Given the description of an element on the screen output the (x, y) to click on. 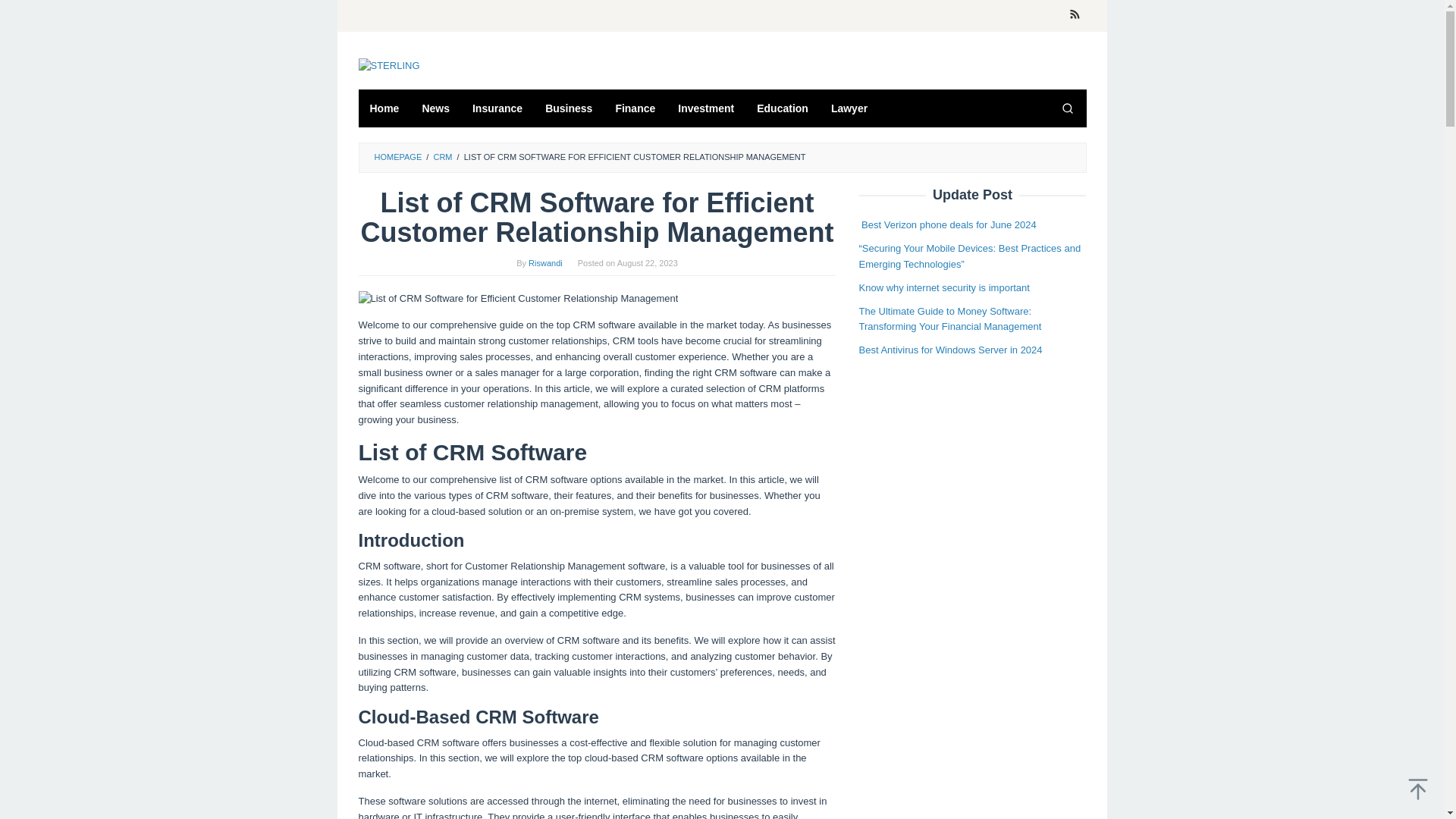
Know why internet security is important (944, 287)
CRM (441, 156)
Lawyer (849, 108)
News (435, 108)
STERLING (388, 66)
Permalink to: Riswandi (545, 262)
Finance (635, 108)
Best Antivirus for Windows Server in 2024 (950, 349)
Search (1067, 108)
